Given the description of an element on the screen output the (x, y) to click on. 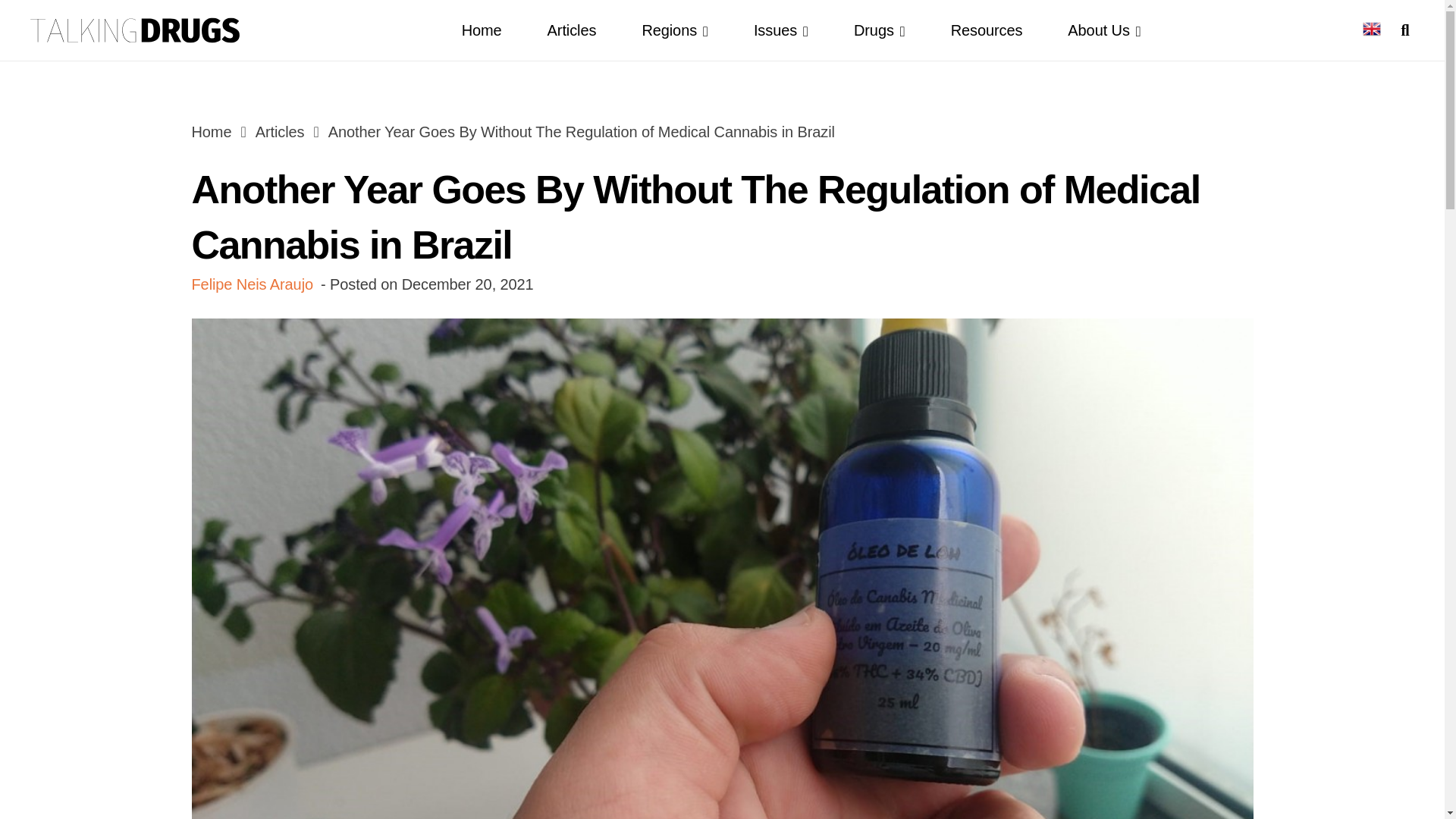
Regions (674, 30)
Articles (572, 30)
Resources (986, 30)
Home (481, 30)
About Us (1104, 30)
Drugs (879, 30)
Posts by Felipe Neis Araujo (251, 284)
Home (210, 131)
Issues (780, 30)
